Given the description of an element on the screen output the (x, y) to click on. 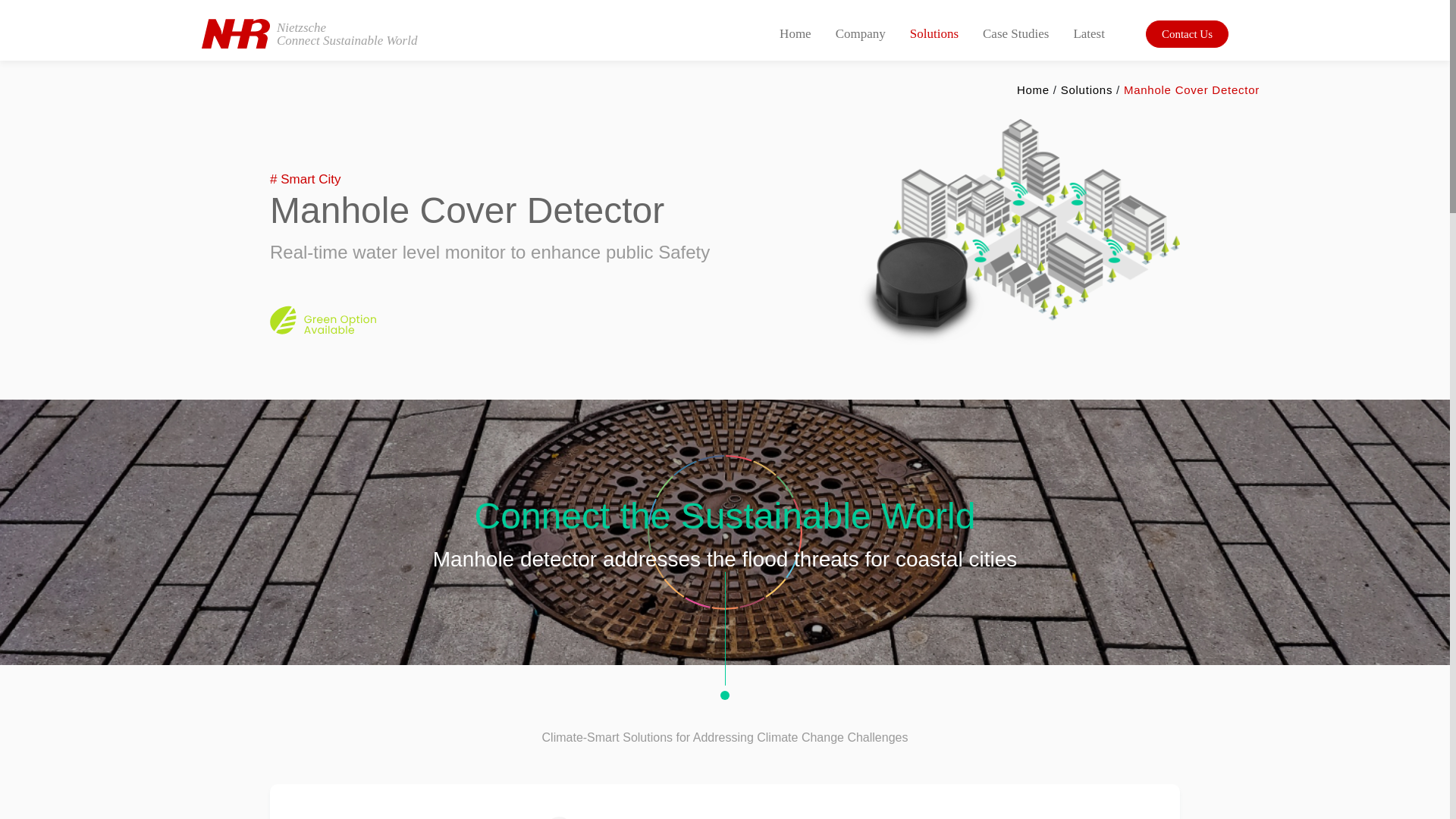
Solutions (309, 33)
Home (1086, 89)
